Given the description of an element on the screen output the (x, y) to click on. 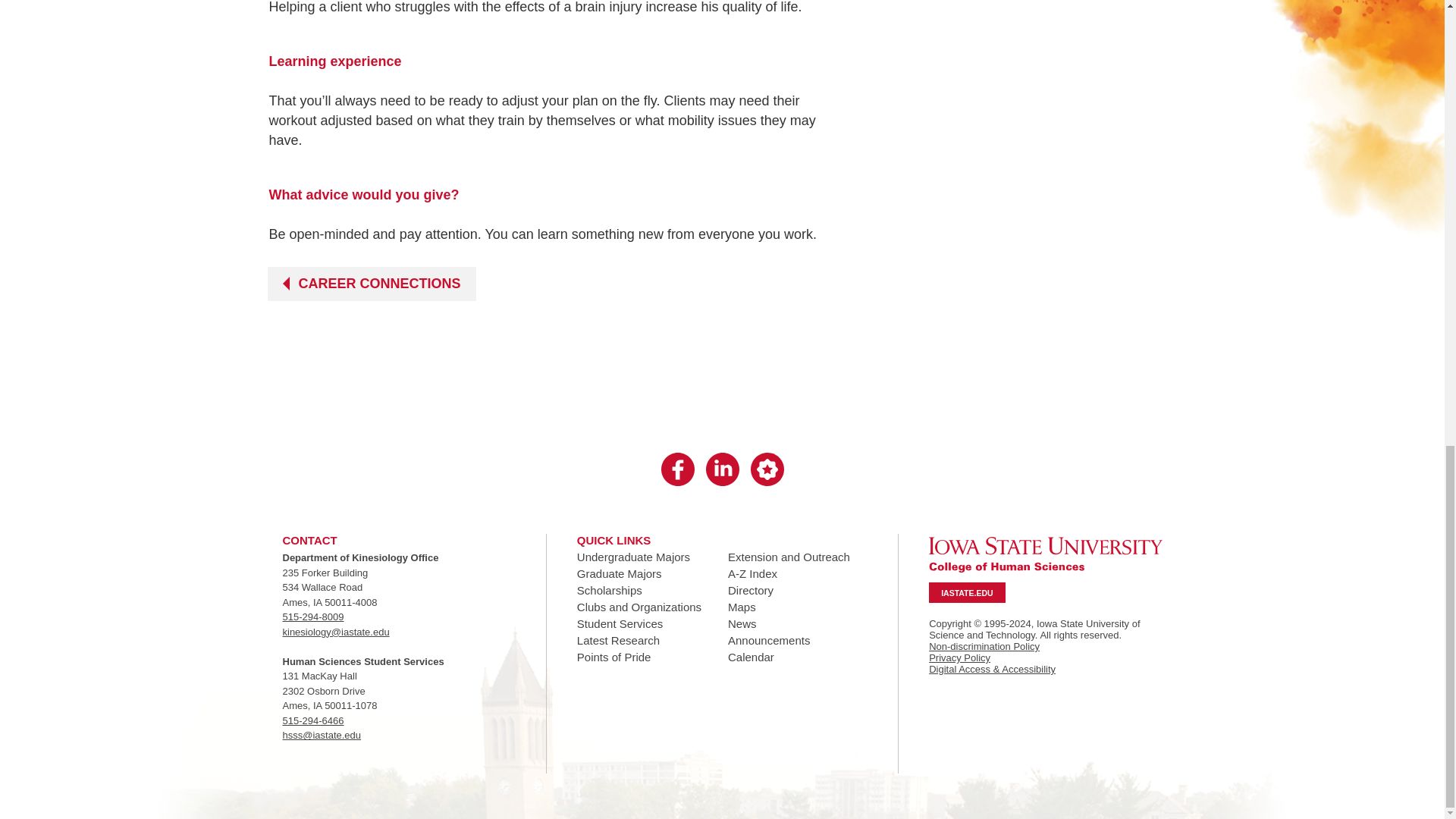
Iowa State University (1044, 554)
Click to go to www.iastate.edu (1044, 553)
Visit Department of Kinesiology on Facebook (677, 470)
Click to visit www.iastate.edu (966, 592)
Visit Department of Kinesiology on Merit Pages (767, 470)
Visit Department of Kinesiology on LinkedIn (721, 470)
